Given the description of an element on the screen output the (x, y) to click on. 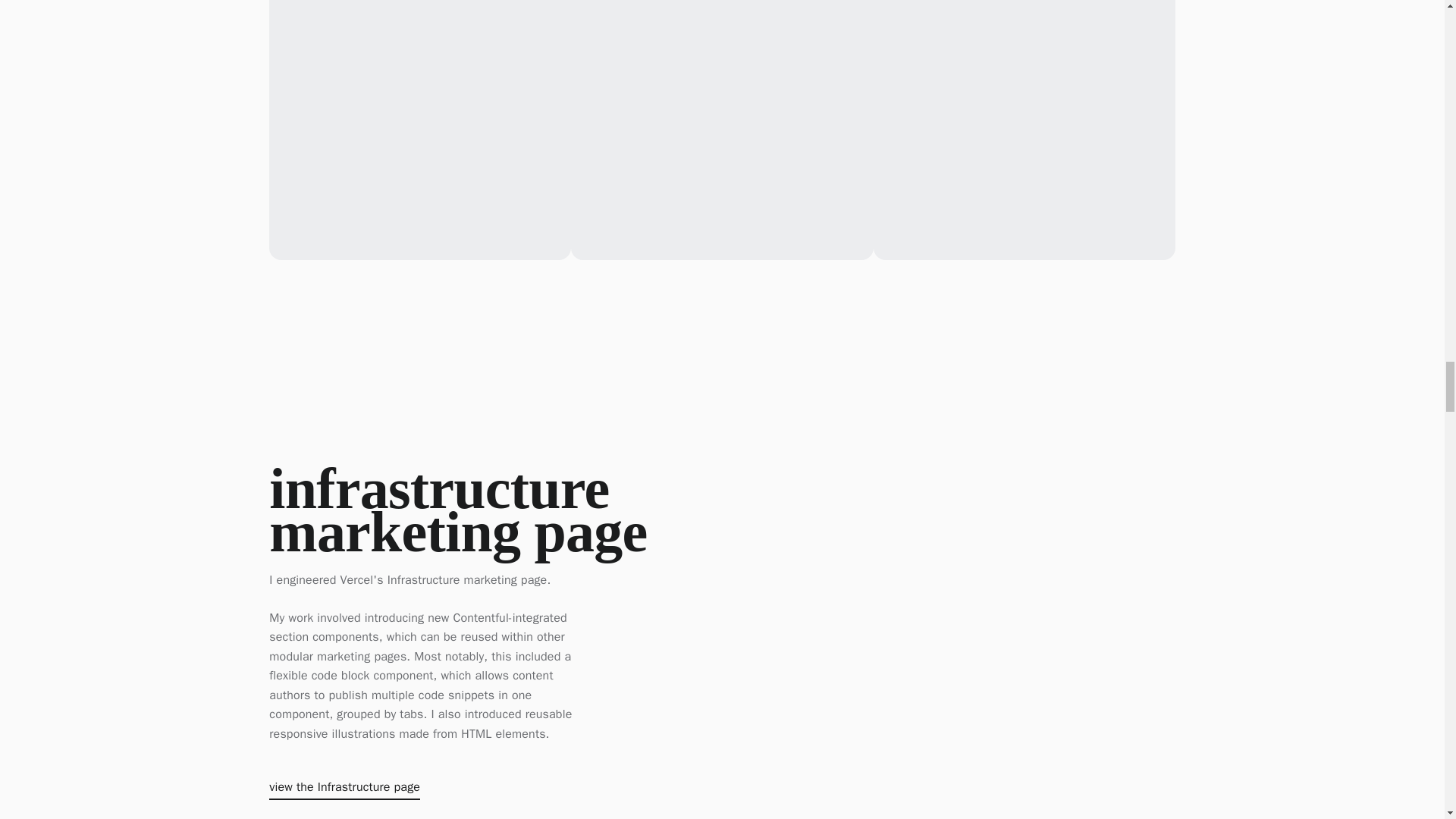
view the Infrastructure page (344, 790)
